Given the description of an element on the screen output the (x, y) to click on. 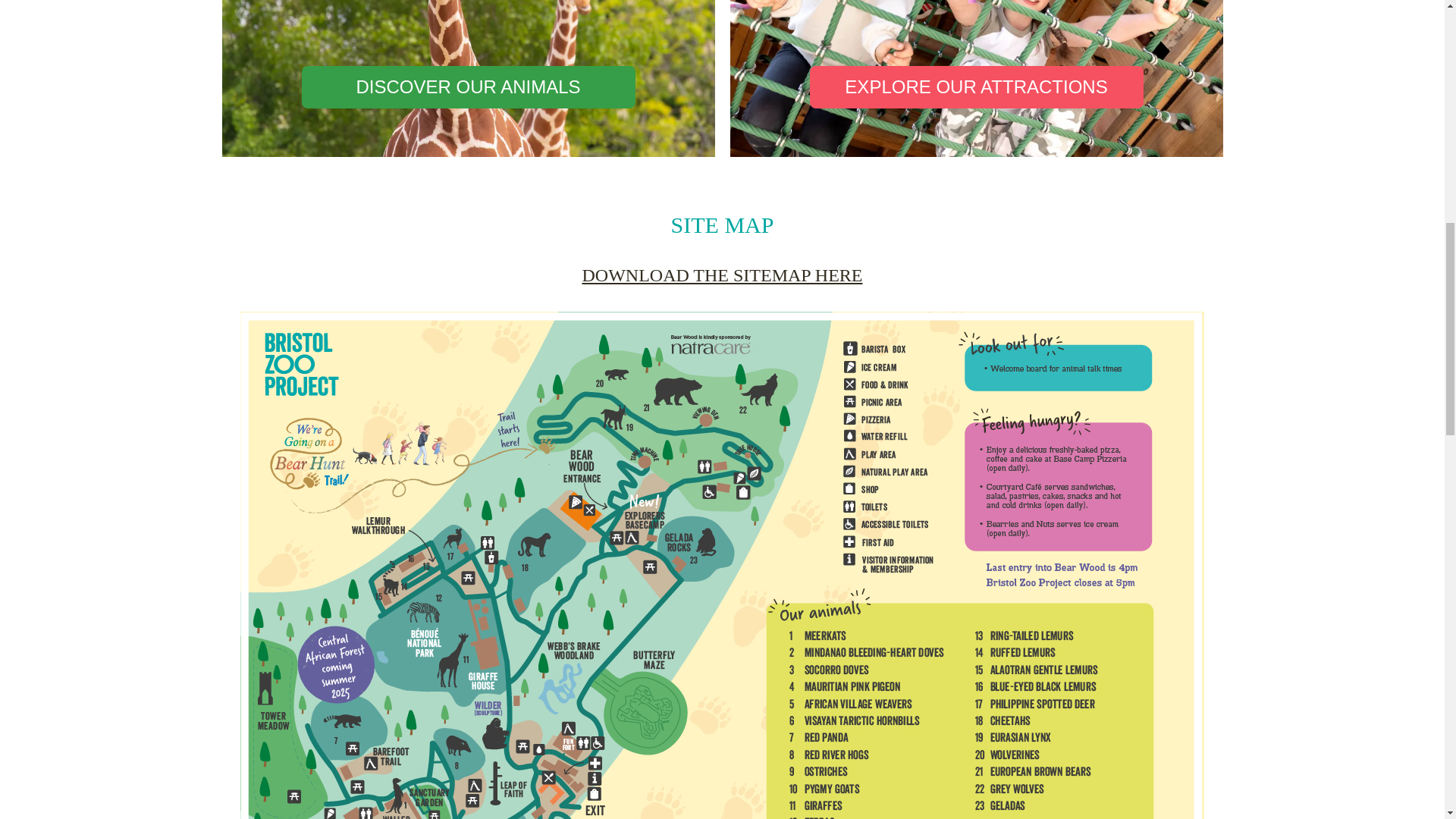
EXPLORE OUR ATTRACTIONS (975, 87)
DISCOVER OUR ANIMALS (467, 87)
DOWNLOAD THE SITEMAP HERE (722, 275)
